Given the description of an element on the screen output the (x, y) to click on. 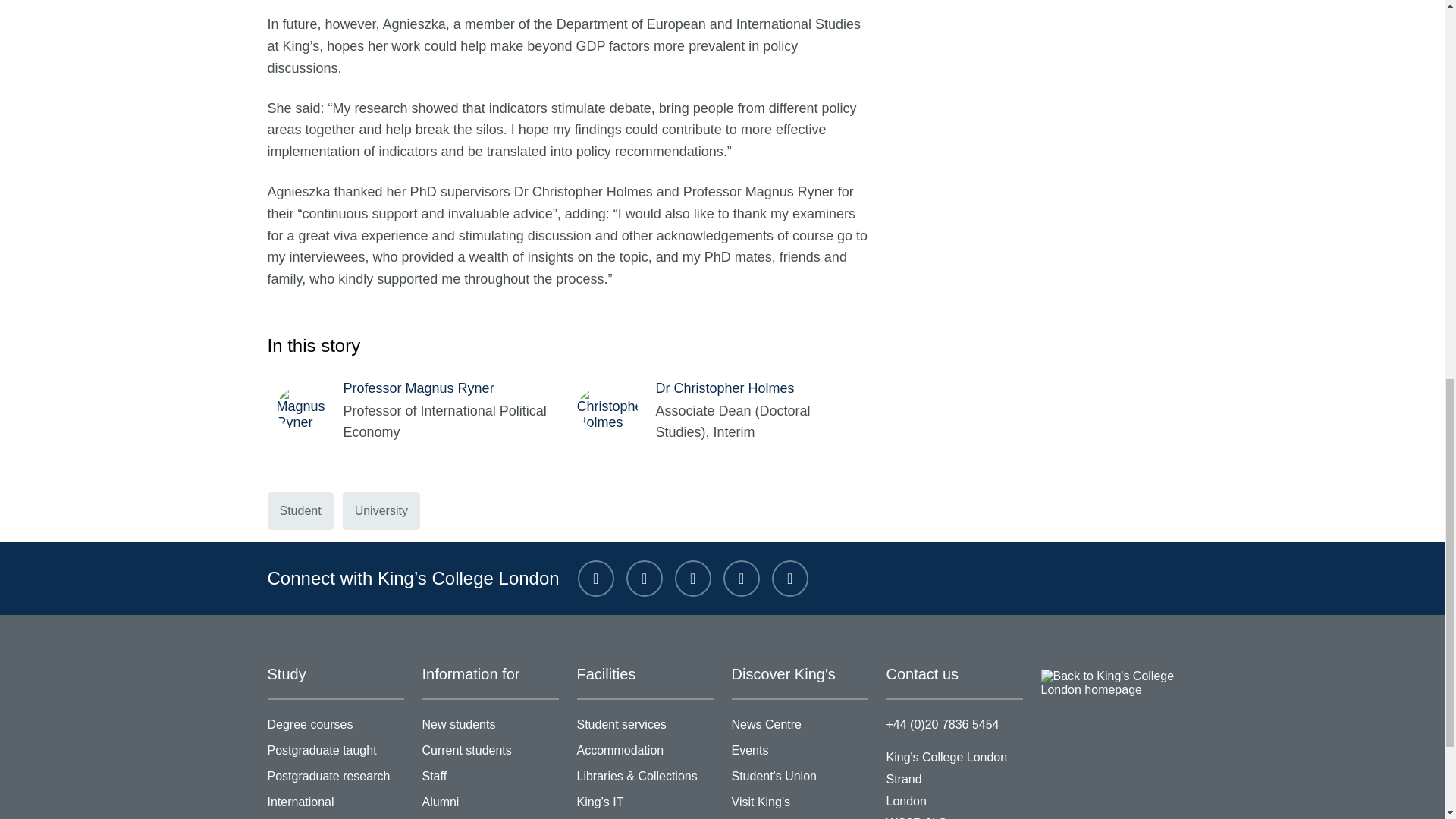
Dr Christopher Holmes  (615, 408)
Professor Magnus Ryner  (309, 408)
